Given the description of an element on the screen output the (x, y) to click on. 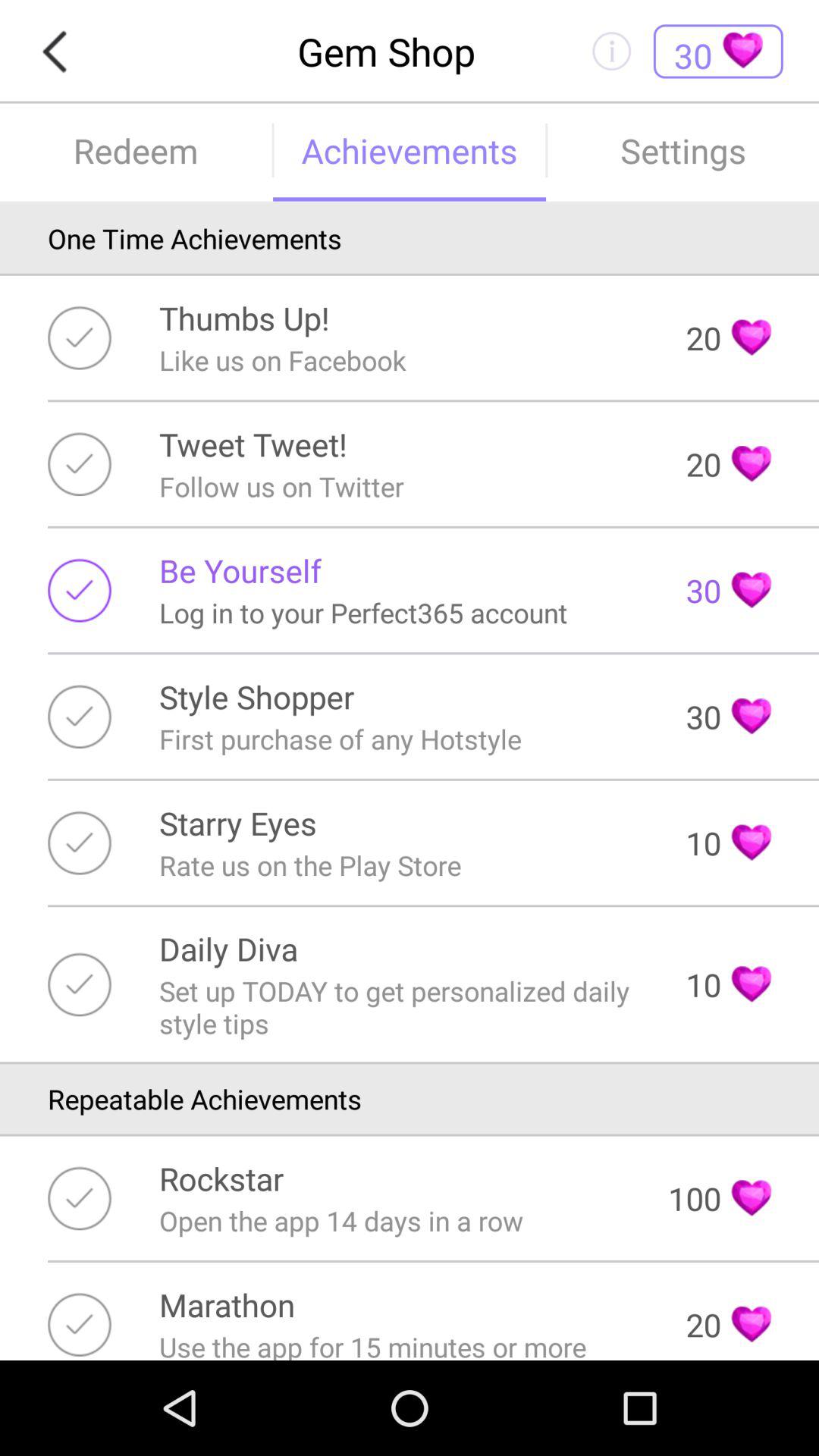
jump to the redeem icon (135, 150)
